Given the description of an element on the screen output the (x, y) to click on. 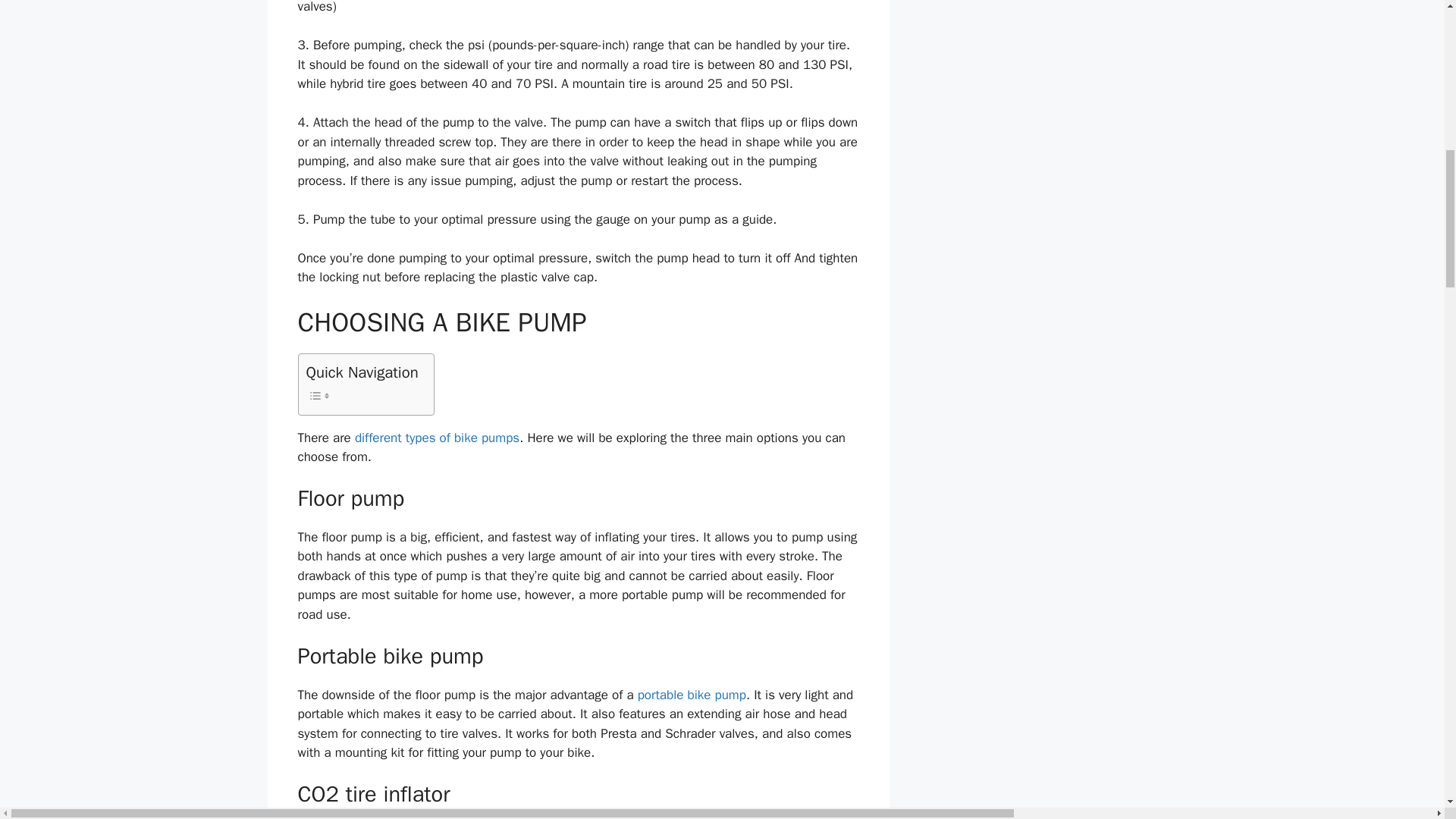
different types of bike pumps (437, 437)
portable bike pump (691, 694)
